Given the description of an element on the screen output the (x, y) to click on. 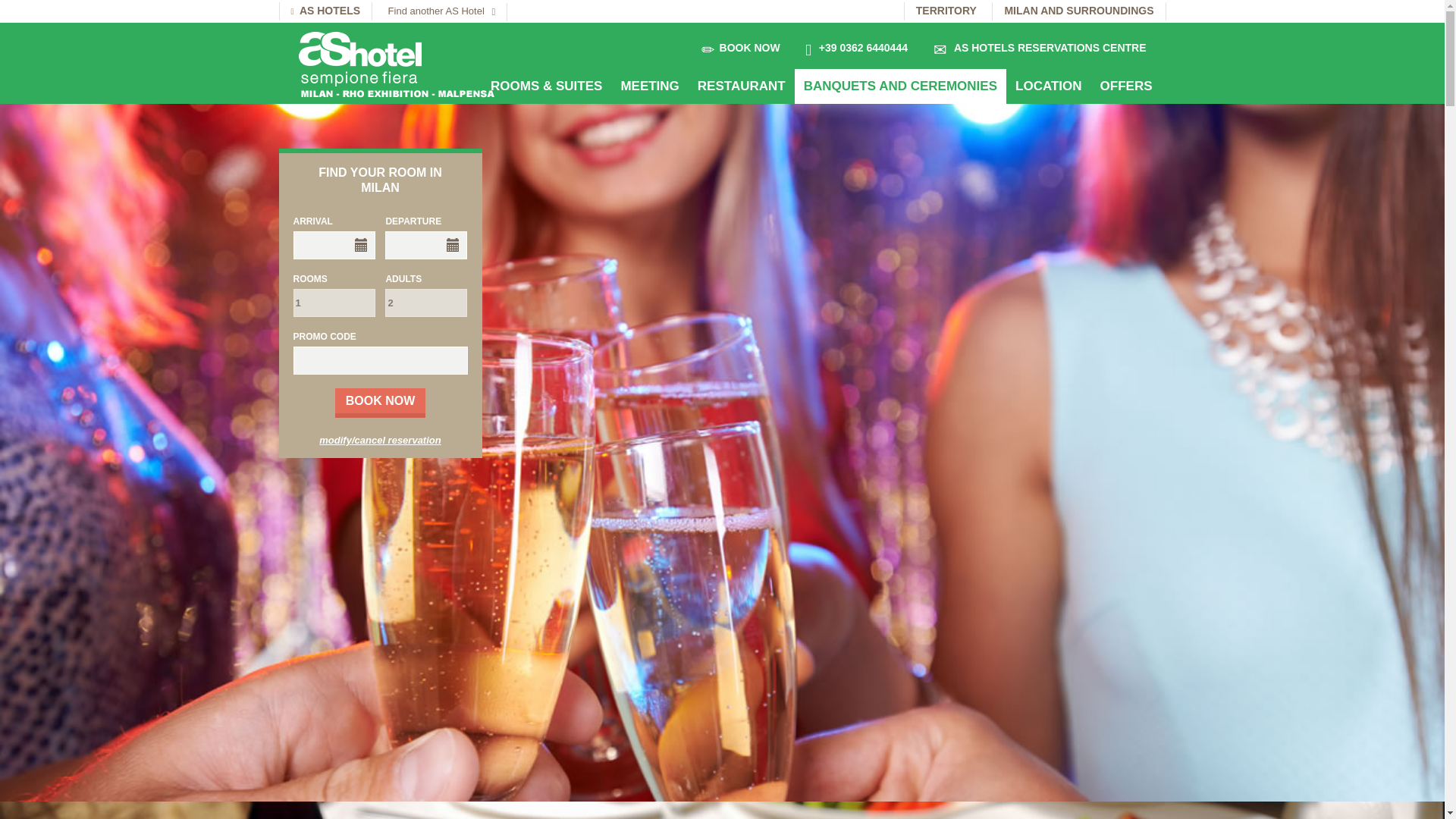
LOCATION (1048, 86)
Book now (380, 402)
Find another AS Hotel (442, 12)
AS HOTELS (325, 11)
MILAN AND SURROUNDINGS (1078, 11)
OFFERS (1125, 86)
MEETING (649, 86)
BOOK NOW (751, 47)
BANQUETS AND CEREMONIES (900, 86)
AS Hotel Sempione Fiera (409, 63)
